Given the description of an element on the screen output the (x, y) to click on. 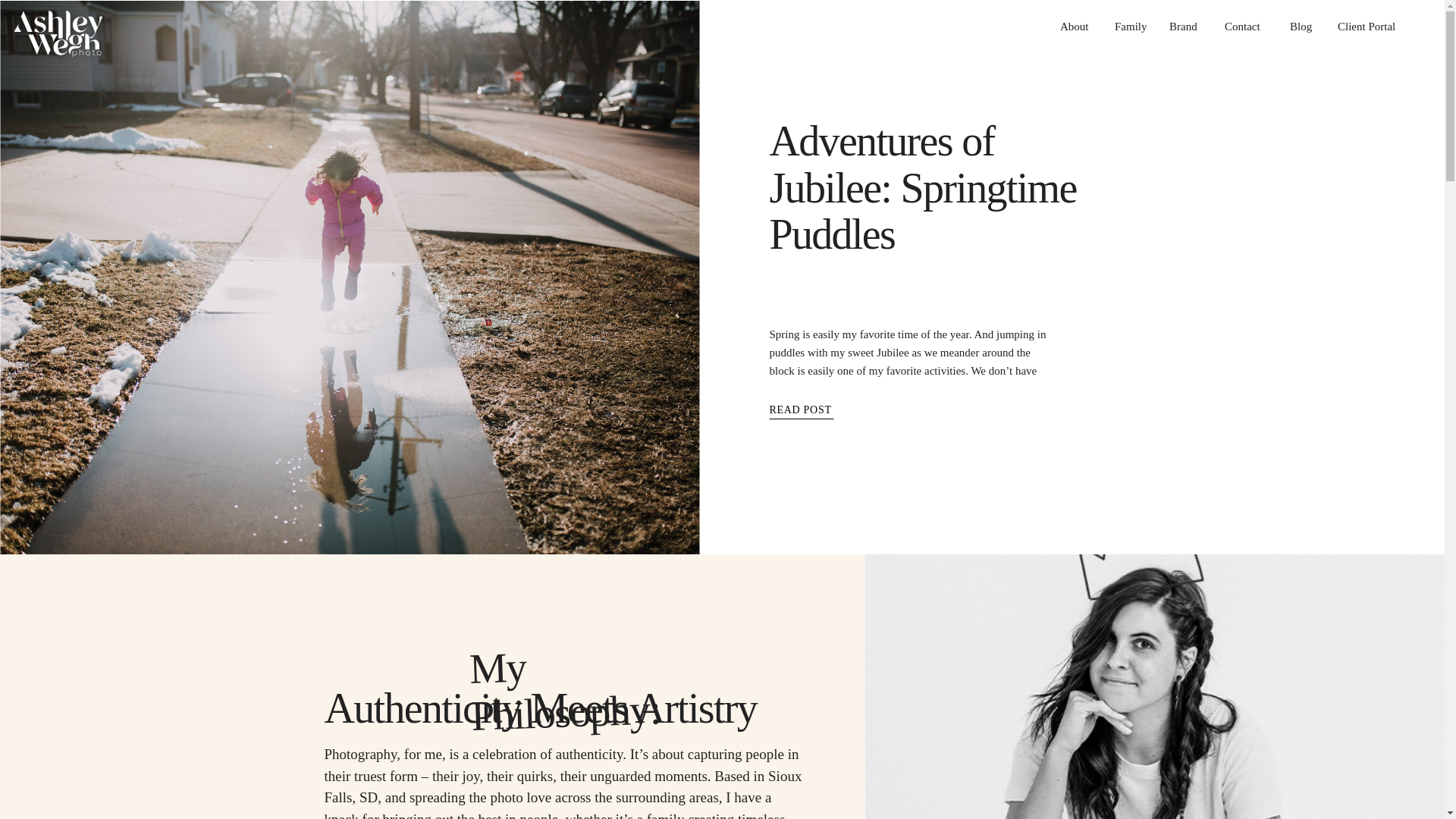
About (1074, 24)
Client Portal (1370, 24)
Adventures of Jubilee: Springtime Puddles (829, 412)
Brand (1184, 24)
Family (1130, 24)
READ POST (829, 412)
Adventures of Jubilee: Springtime Puddles (921, 187)
Blog (1302, 24)
